Given the description of an element on the screen output the (x, y) to click on. 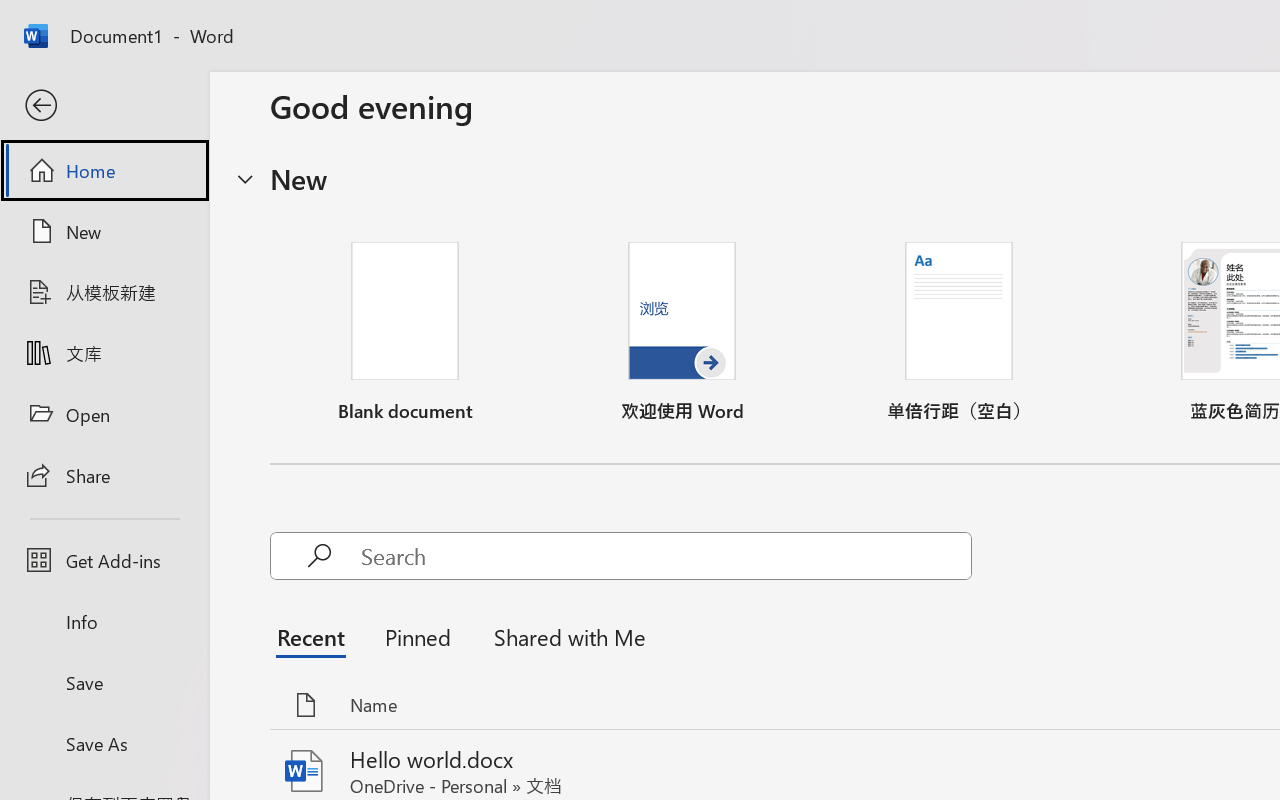
Blank document (405, 332)
Pinned (417, 636)
Back (104, 106)
Save As (104, 743)
Get Add-ins (104, 560)
Hide or show region (245, 178)
Recent (316, 636)
Search (665, 555)
Info (104, 621)
